Given the description of an element on the screen output the (x, y) to click on. 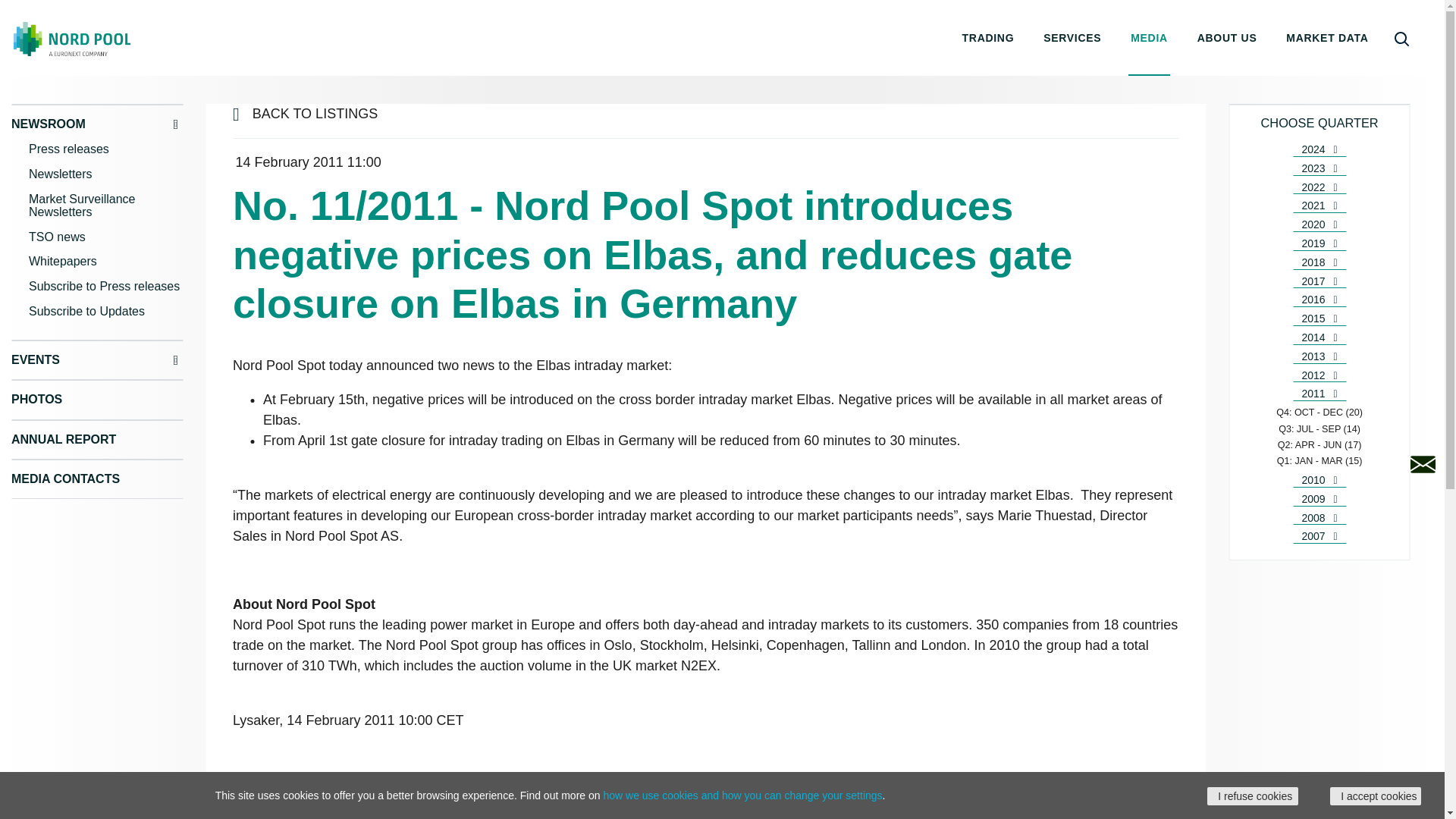
I accept cookies (1375, 796)
I refuse cookies (1252, 796)
how we use cookies and how you can change your settings (742, 795)
